Given the description of an element on the screen output the (x, y) to click on. 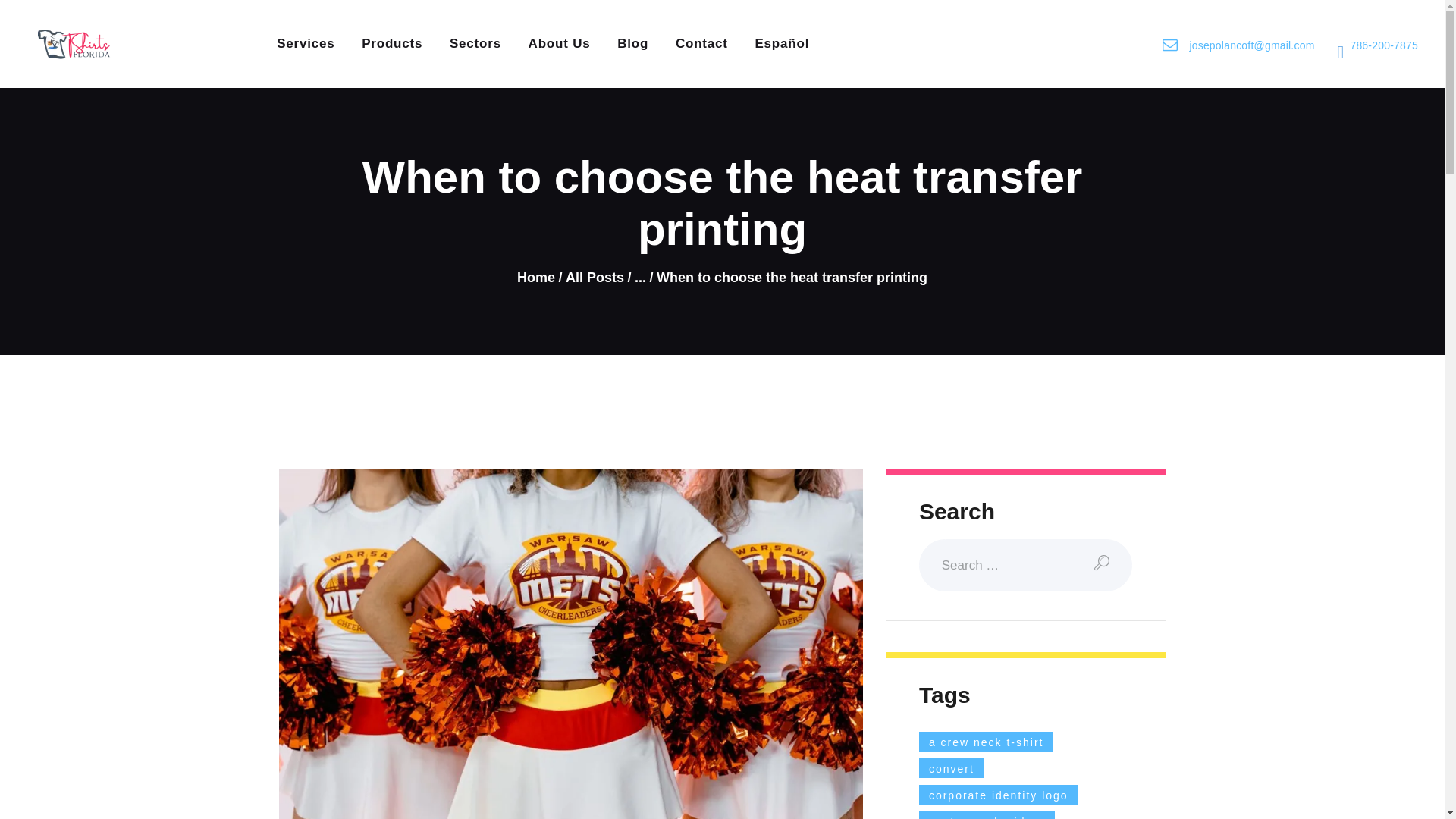
Home (535, 278)
About Us (559, 43)
Products (391, 43)
All Posts (595, 277)
Sectors (475, 43)
Blog (633, 43)
Services (305, 43)
Contact (701, 43)
786-200-7875 (1383, 44)
